Given the description of an element on the screen output the (x, y) to click on. 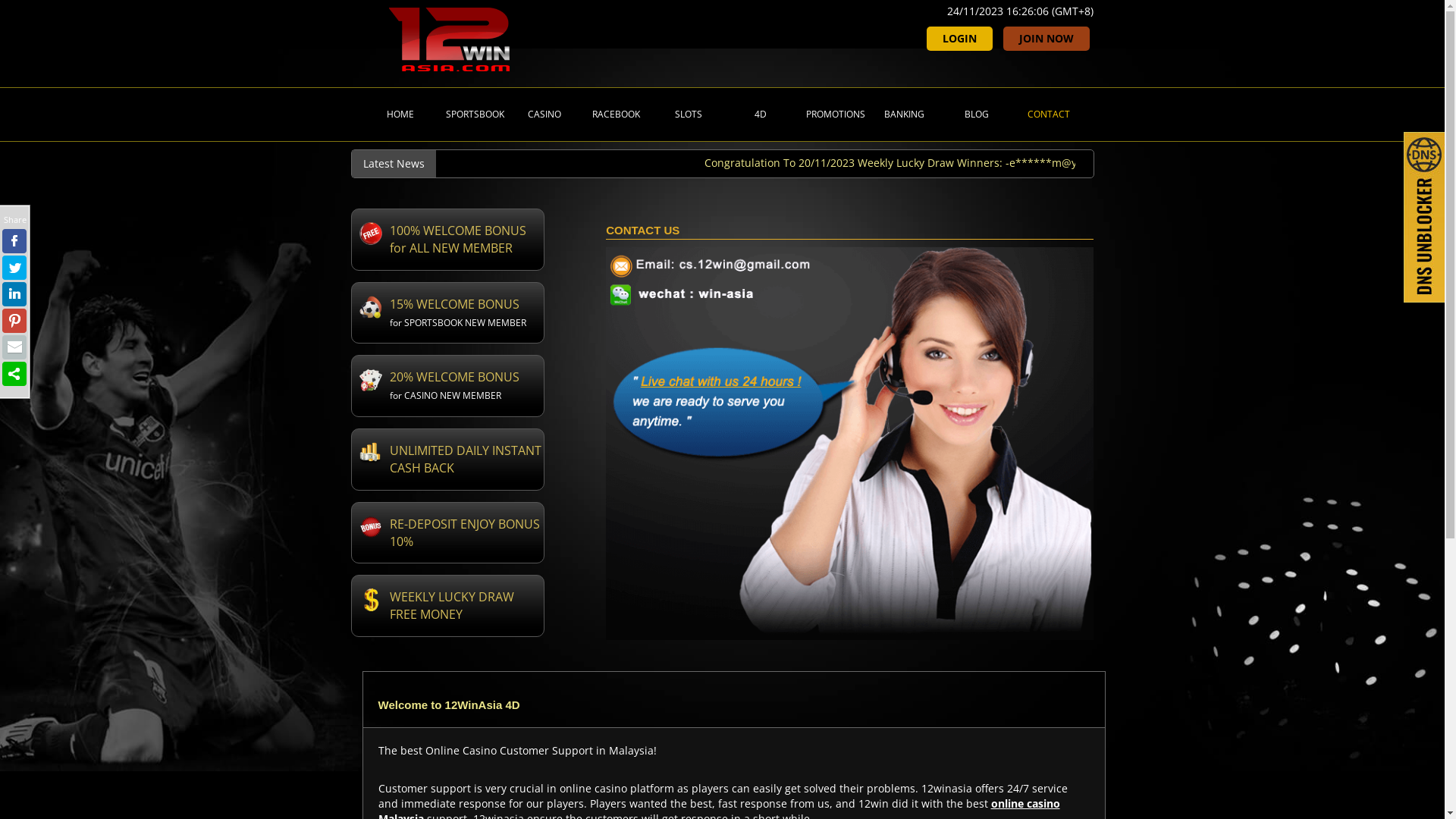
WEEKLY LUCKY DRAW
FREE MONEY Element type: text (446, 605)
15% WELCOME BONUS
for SPORTSBOOK NEW MEMBER Element type: text (446, 313)
JOIN NOW Element type: text (1046, 38)
RE-DEPOSIT ENJOY BONUS 10% Element type: text (446, 533)
HOME Element type: text (398, 114)
LOGIN Element type: text (959, 38)
100% WELCOME BONUS
for ALL NEW MEMBER Element type: text (446, 239)
SPORTSBOOK Element type: text (469, 114)
CASINO Element type: text (542, 114)
CONTACT Element type: text (1046, 114)
SLOTS Element type: text (686, 114)
UNLIMITED DAILY INSTANT CASH BACK Element type: text (446, 459)
BANKING Element type: text (902, 114)
4D Element type: text (757, 114)
BLOG Element type: text (974, 114)
20% WELCOME BONUS
for CASINO NEW MEMBER Element type: text (446, 385)
PROMOTIONS Element type: text (830, 114)
RACEBOOK Element type: text (613, 114)
